Given the description of an element on the screen output the (x, y) to click on. 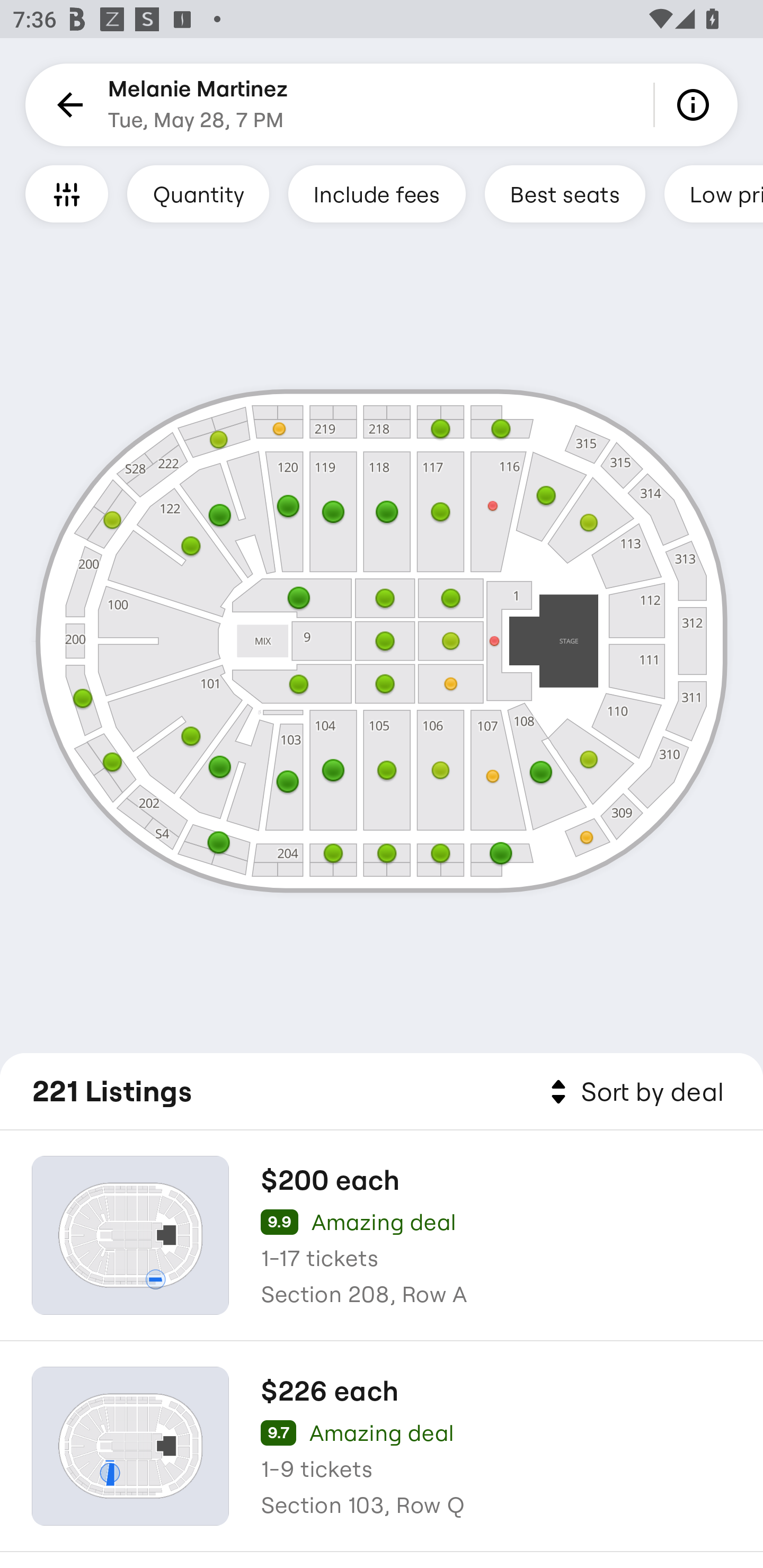
Back (66, 104)
Melanie Martinez Tue, May 28, 7 PM (198, 104)
Info (695, 104)
Filters and Accessible Seating (66, 193)
Quantity (198, 193)
Include fees (376, 193)
Best seats (564, 193)
Sort by deal (633, 1091)
